Given the description of an element on the screen output the (x, y) to click on. 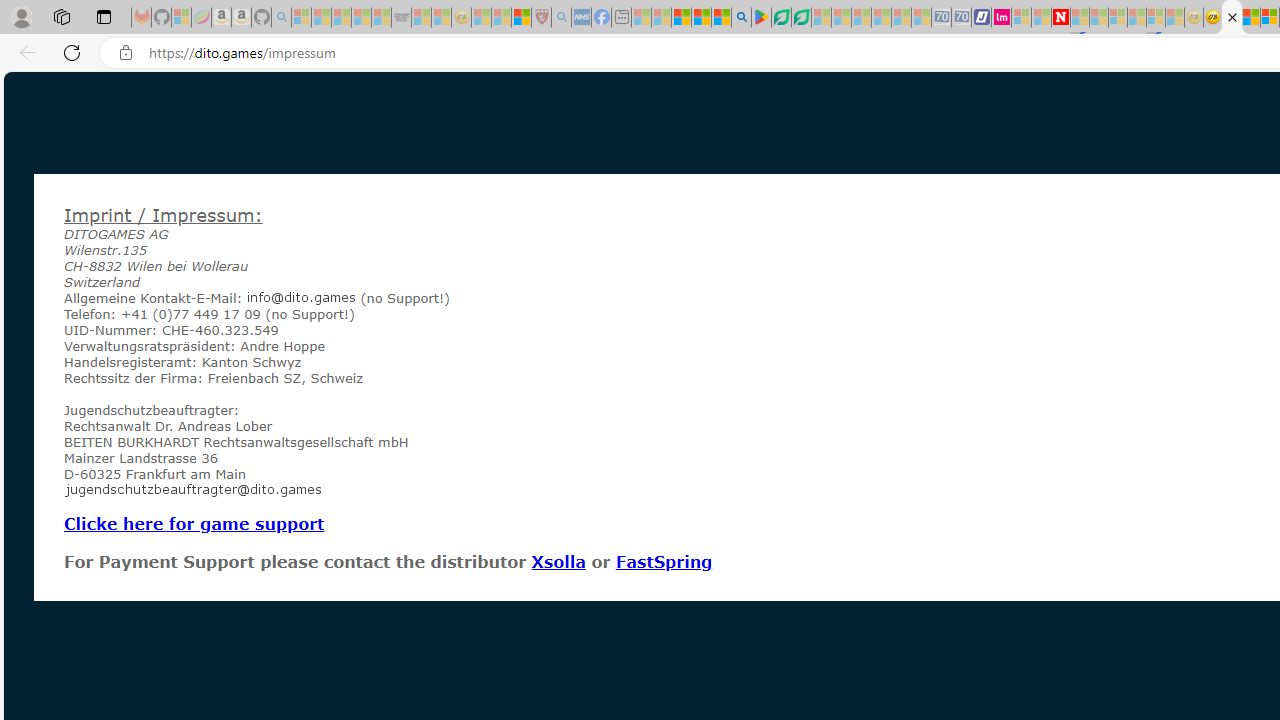
New tab - Sleeping (621, 17)
The Weather Channel - MSN - Sleeping (340, 17)
Microsoft Start - Sleeping (1040, 17)
Jobs - lastminute.com Investor Portal (1001, 17)
Combat Siege (400, 17)
Clicke here for game support (194, 523)
Latest Politics News & Archive | Newsweek.com (1061, 17)
Cheap Hotels - Save70.com - Sleeping (961, 17)
